Given the description of an element on the screen output the (x, y) to click on. 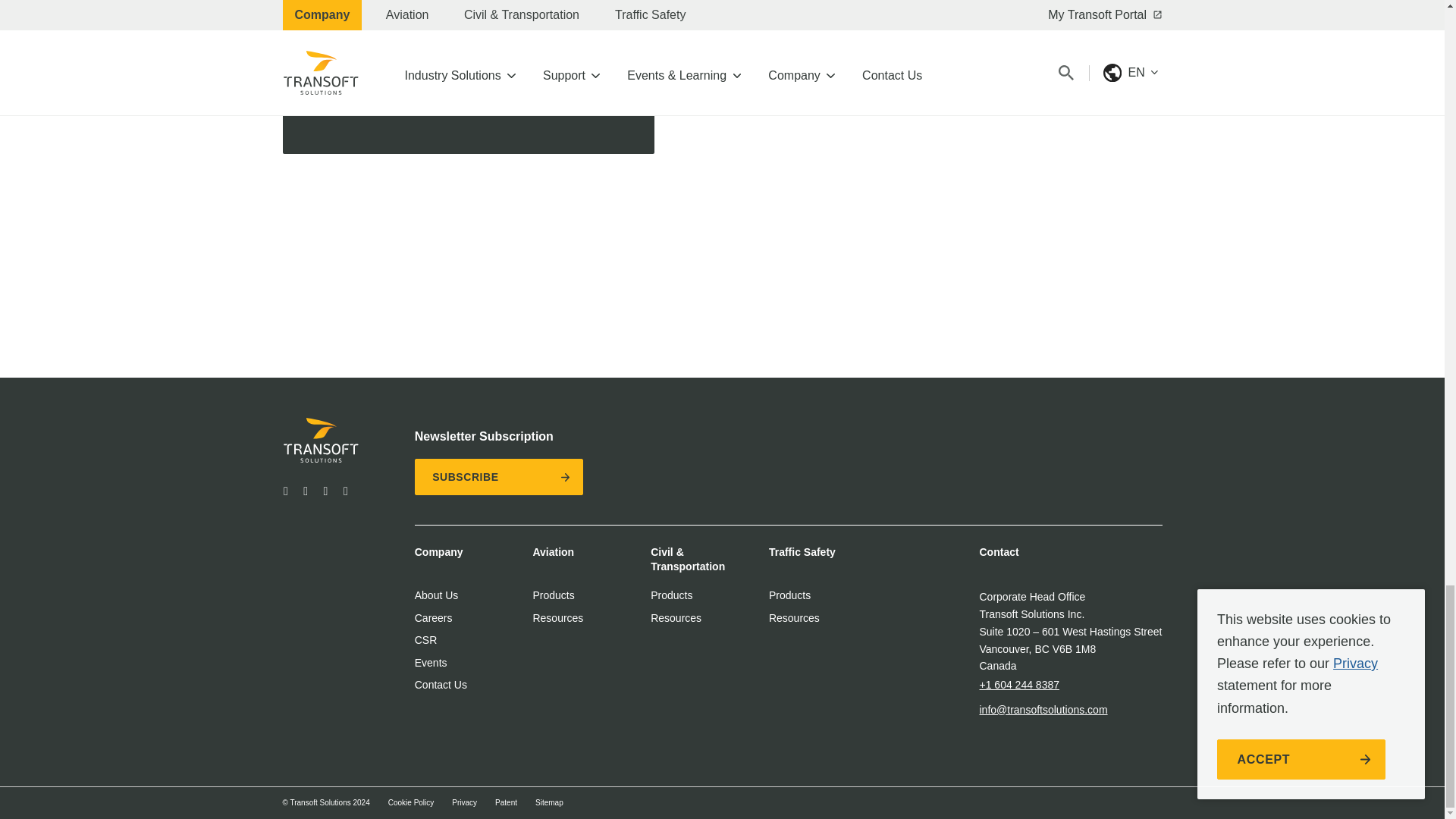
Opens in a new tab (345, 491)
logo-white  (321, 439)
Opens in a new tab (305, 491)
Opens in a new tab (286, 491)
Opens in a new tab (325, 491)
